Given the description of an element on the screen output the (x, y) to click on. 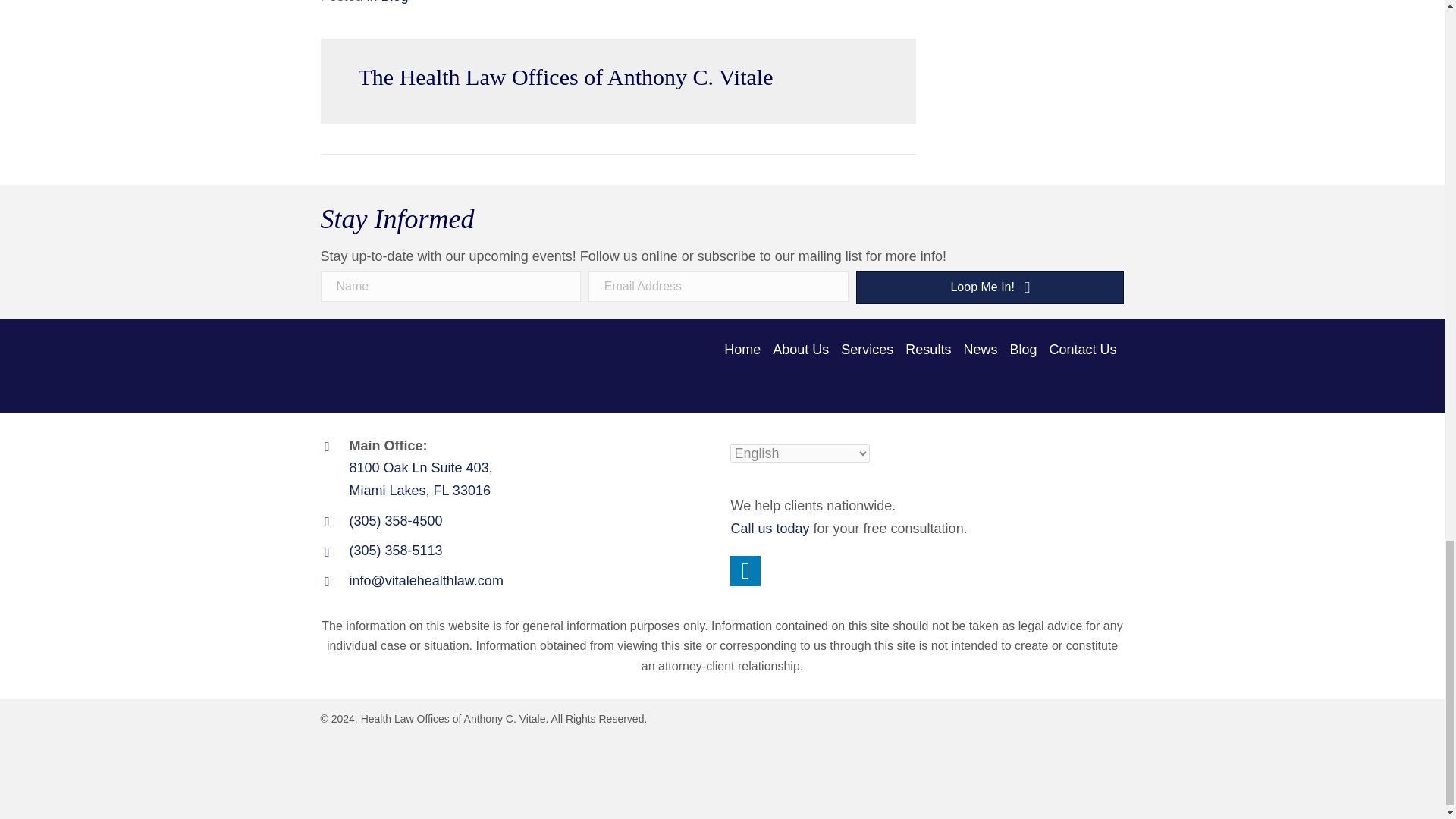
Blog (395, 2)
LinkedIn (745, 571)
Home (744, 350)
Loop Me In! (990, 287)
About Us (801, 350)
Services (869, 350)
